Given the description of an element on the screen output the (x, y) to click on. 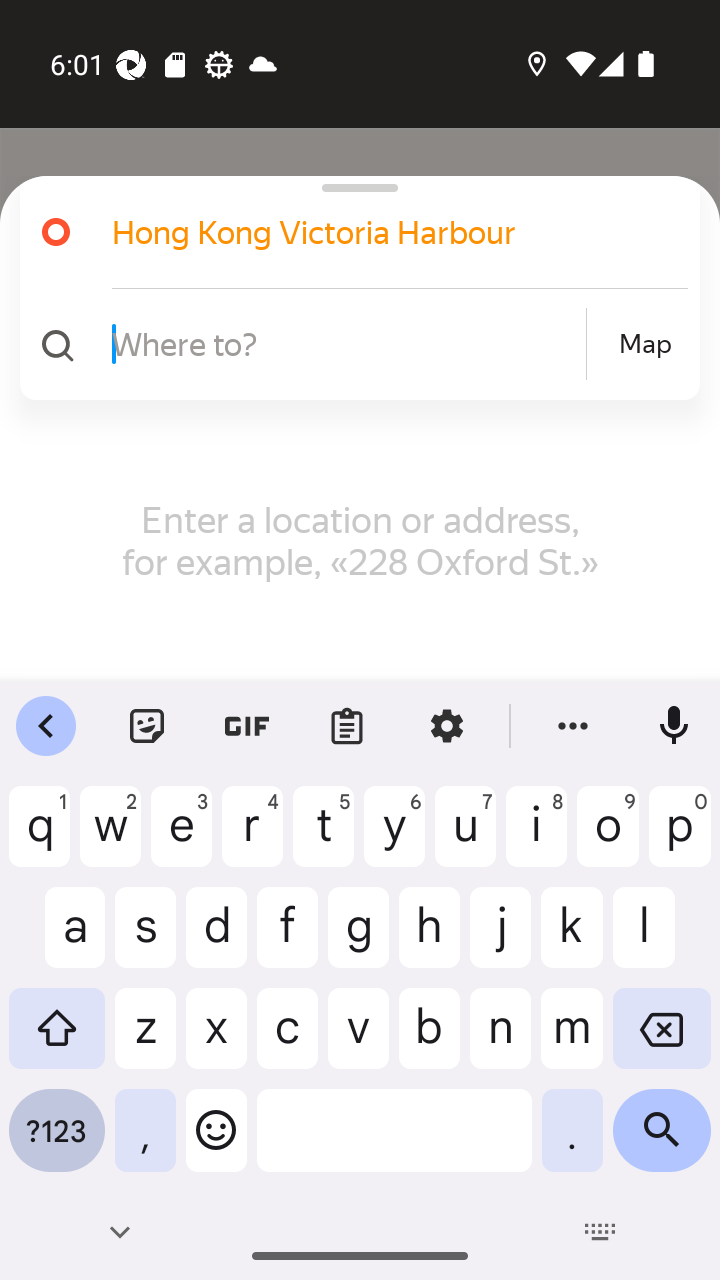
Hong Kong Victoria Harbour (352, 232)
Hong Kong Victoria Harbour (373, 232)
Where to? Map Map (352, 343)
Map (645, 343)
Where to? (346, 343)
